Given the description of an element on the screen output the (x, y) to click on. 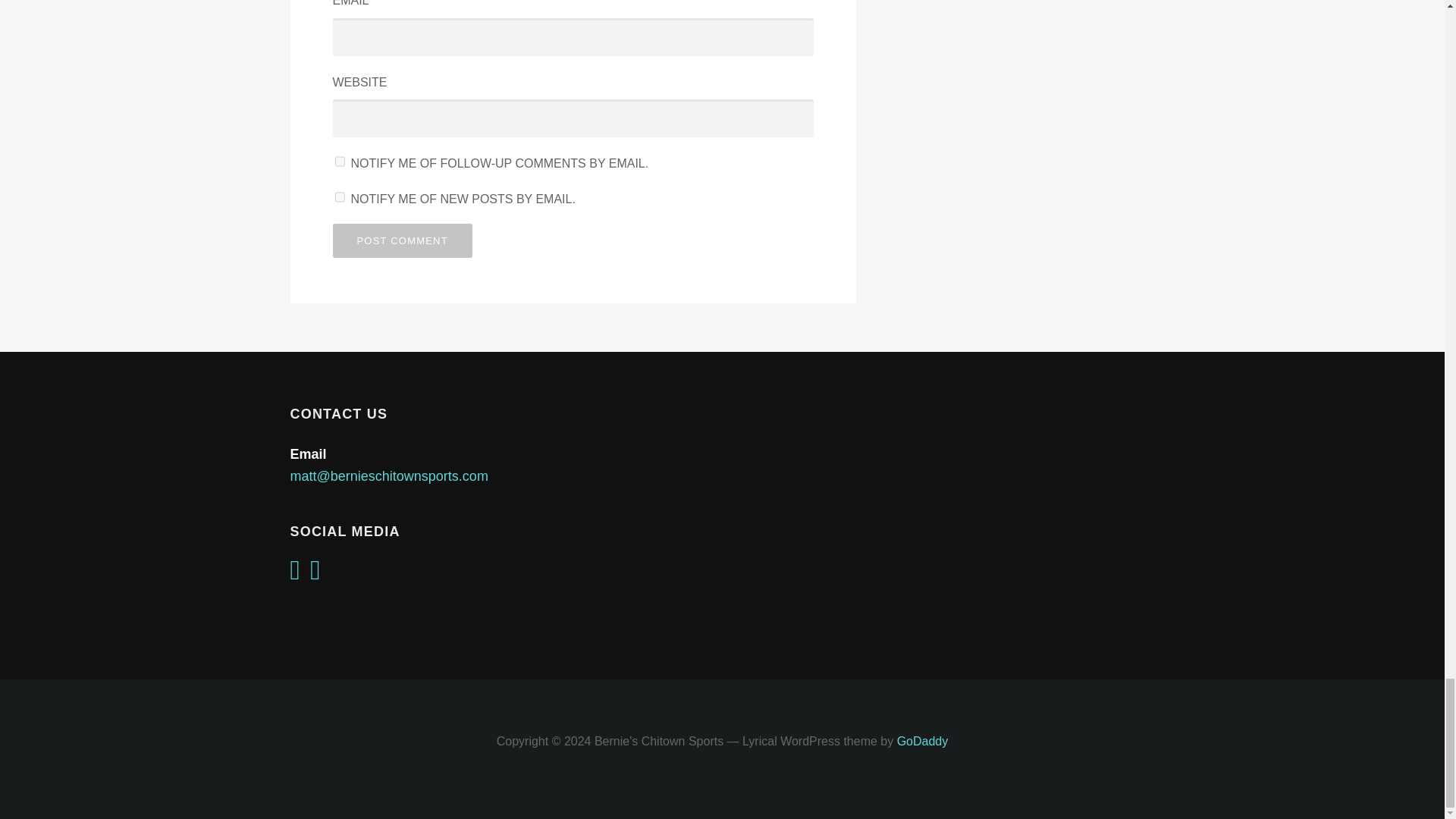
subscribe (339, 161)
subscribe (339, 196)
Post Comment (401, 240)
Visit Bernie's Chitown Sports on Twitter (294, 574)
Post Comment (401, 240)
Visit Bernie's Chitown Sports on Facebook (315, 574)
